Given the description of an element on the screen output the (x, y) to click on. 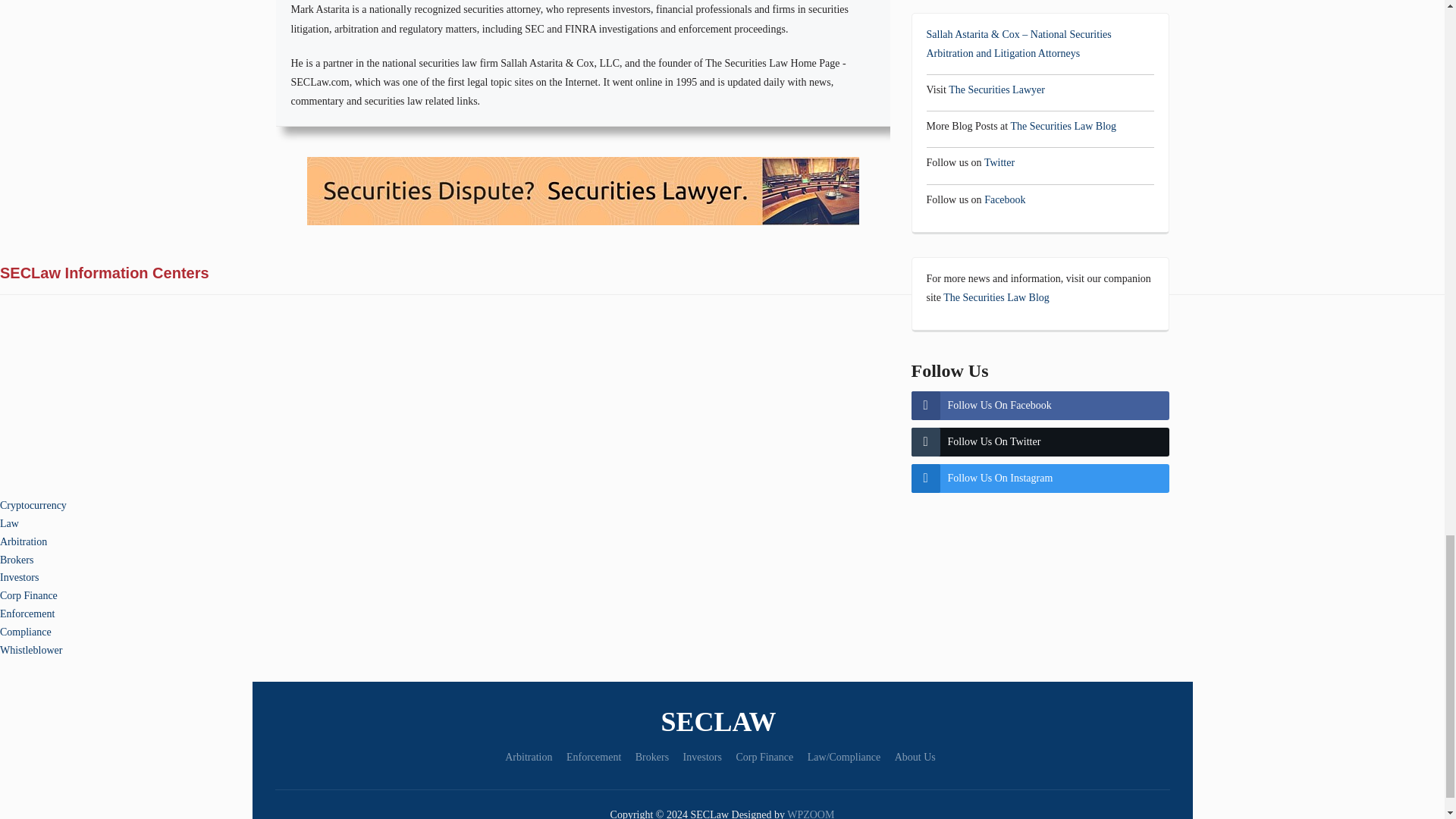
WPZOOM WordPress Themes (810, 814)
The Law of the Financial Markets from Top Securities Lawyers (722, 721)
